Given the description of an element on the screen output the (x, y) to click on. 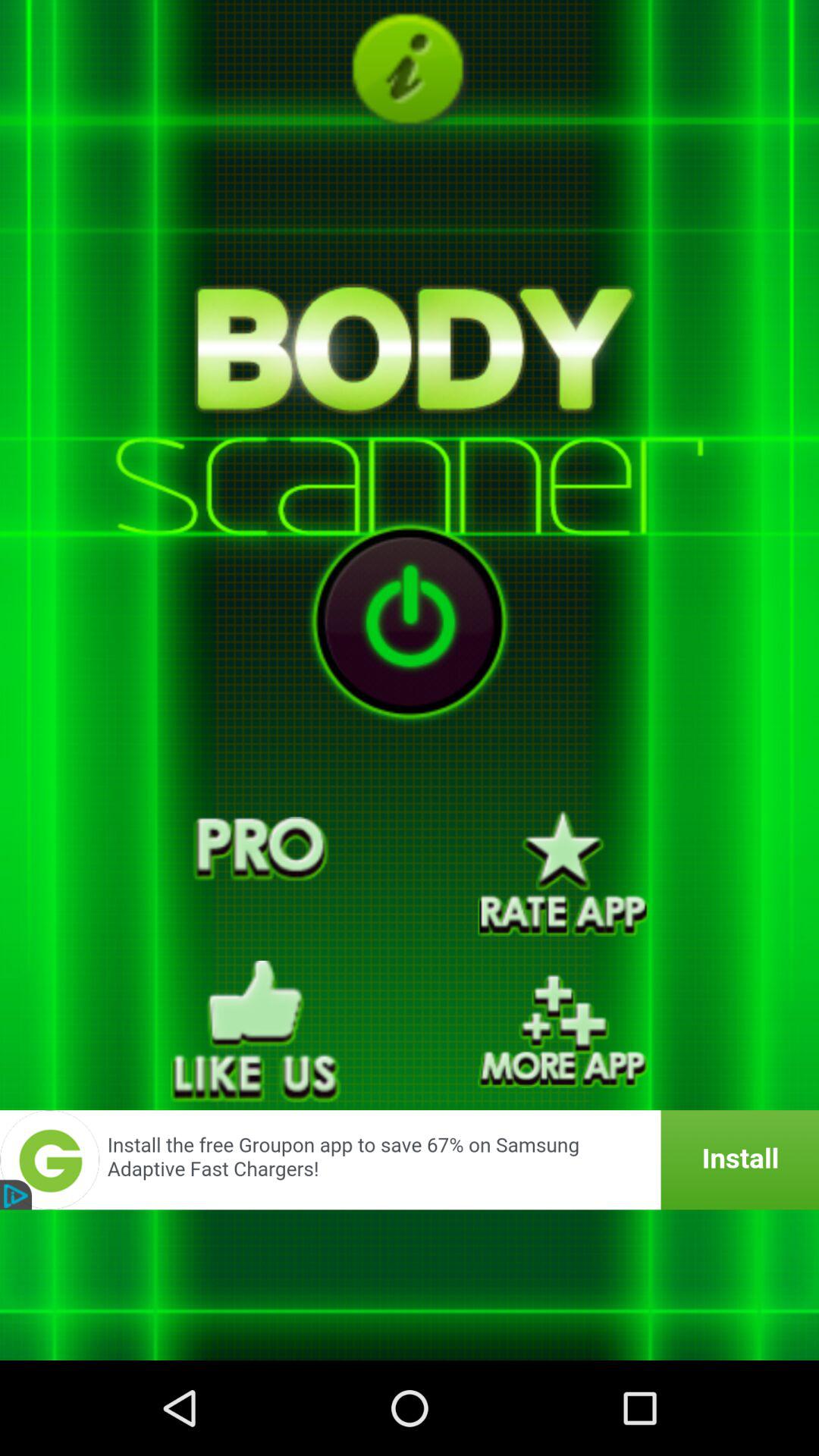
go to pro version (255, 873)
